Given the description of an element on the screen output the (x, y) to click on. 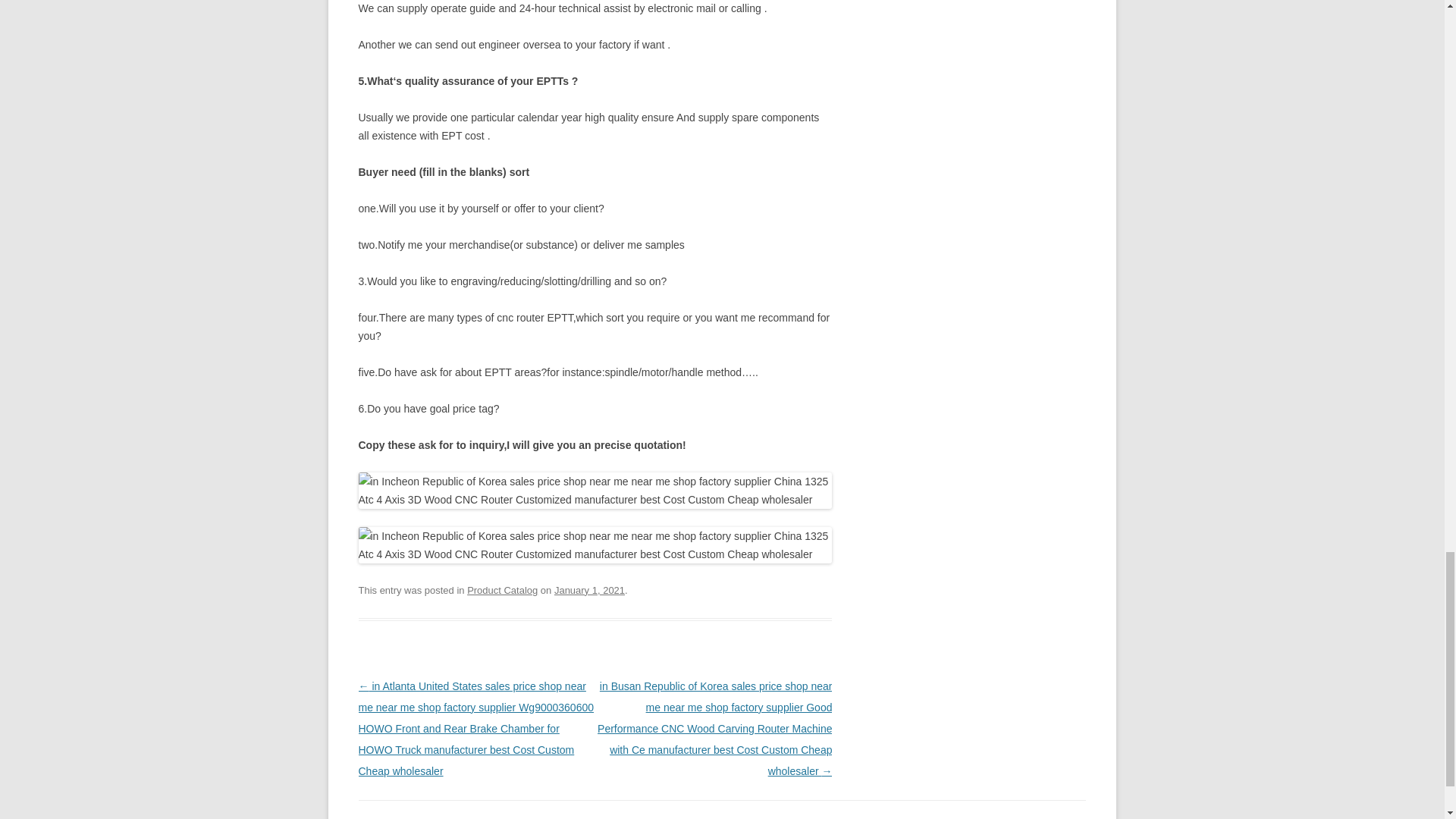
Product Catalog (502, 590)
January 1, 2021 (589, 590)
3:38 am (589, 590)
